Given the description of an element on the screen output the (x, y) to click on. 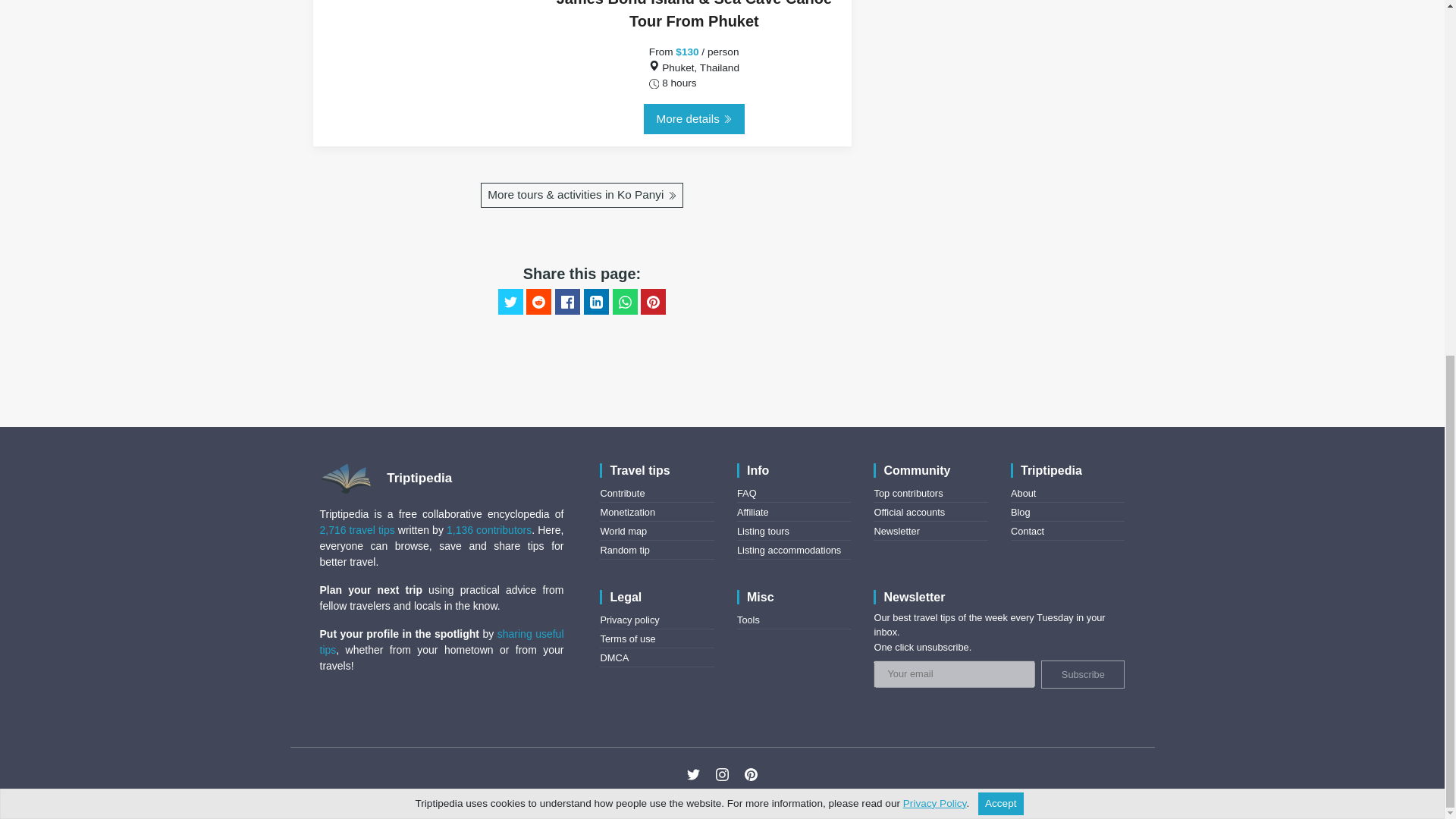
Random tip (624, 550)
2,716 travel tips (357, 530)
Triptipedia (392, 477)
sharing useful tips (442, 642)
Monetization (627, 511)
Pin it (652, 301)
Share on WhatsApp (624, 301)
Contribute (622, 492)
Share on Reddit (538, 301)
Share on Facebook (566, 301)
